Given the description of an element on the screen output the (x, y) to click on. 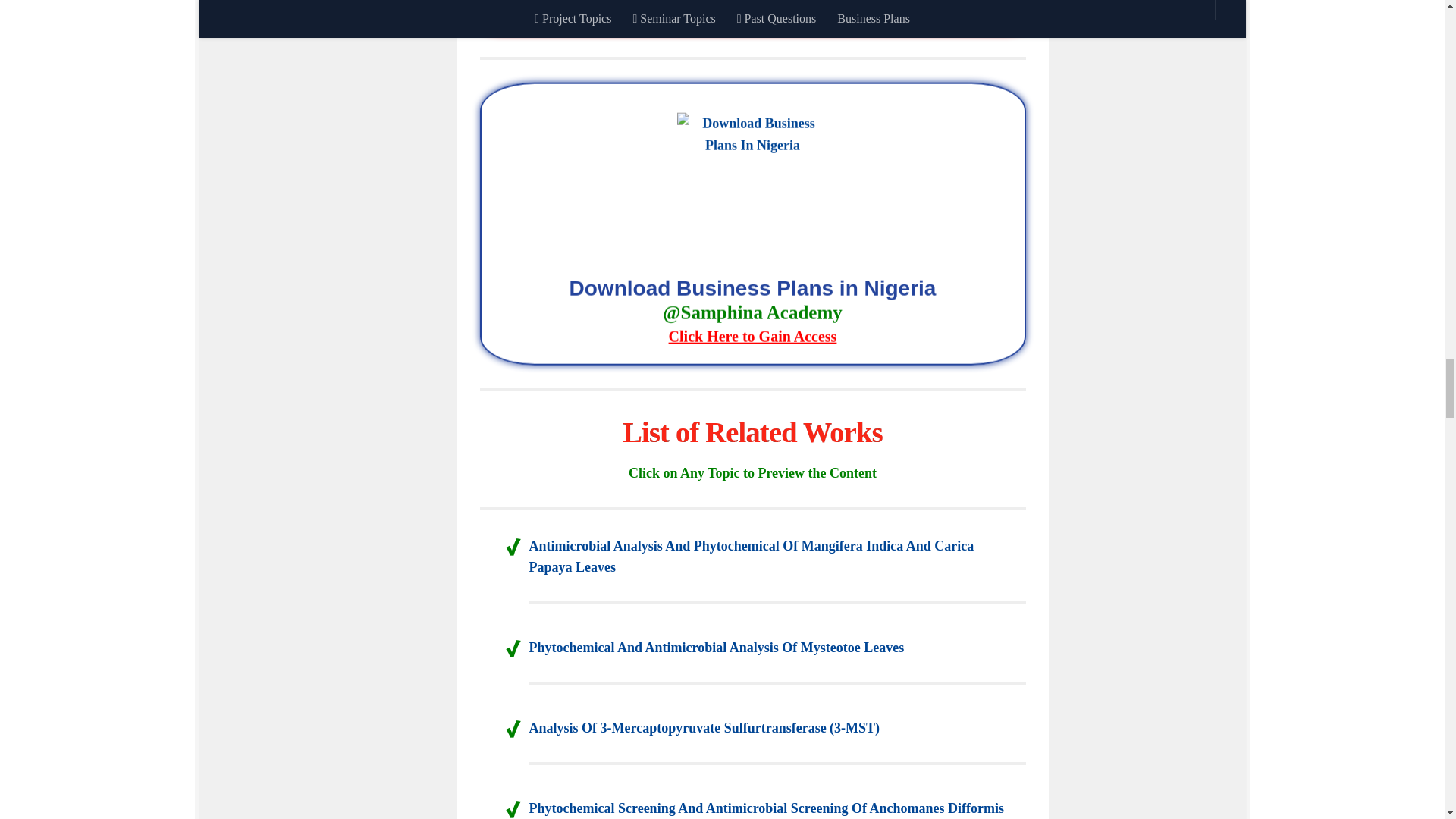
Search (984, 2)
Search (984, 2)
Search (984, 1)
Phytochemical And Antimicrobial Analysis Of Mysteotoe Leaves (716, 647)
Phytochemical And Antimicrobial Analysis Of Mysteotoe Leaves (716, 647)
Download Business Plans in Nigeria (752, 313)
